Given the description of an element on the screen output the (x, y) to click on. 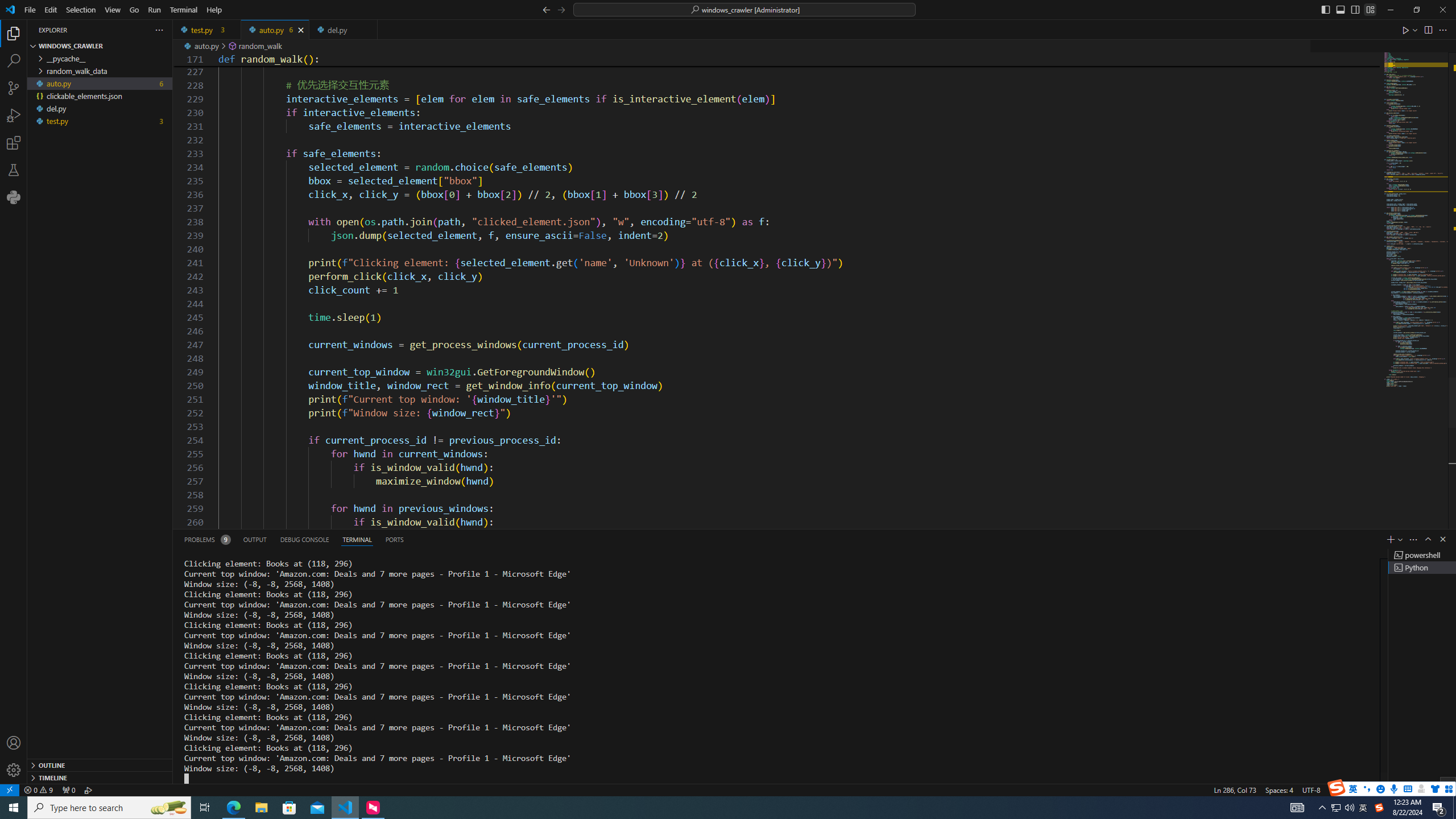
Tab actions (369, 29)
Run (153, 9)
Debug Console (Ctrl+Shift+Y) (304, 539)
Go Forward (Alt+RightArrow) (560, 9)
Close (Ctrl+F4) (369, 29)
Explorer Section: windows_crawler (99, 46)
Timeline Section (99, 777)
Editor actions (1425, 29)
Output (Ctrl+Shift+U) (254, 539)
Ln 286, Col 73 (1235, 789)
Outline Section (99, 764)
Accounts (13, 742)
Source Control (Ctrl+Shift+G) (13, 87)
Toggle Secondary Side Bar (Ctrl+Alt+B) (1355, 9)
